Given the description of an element on the screen output the (x, y) to click on. 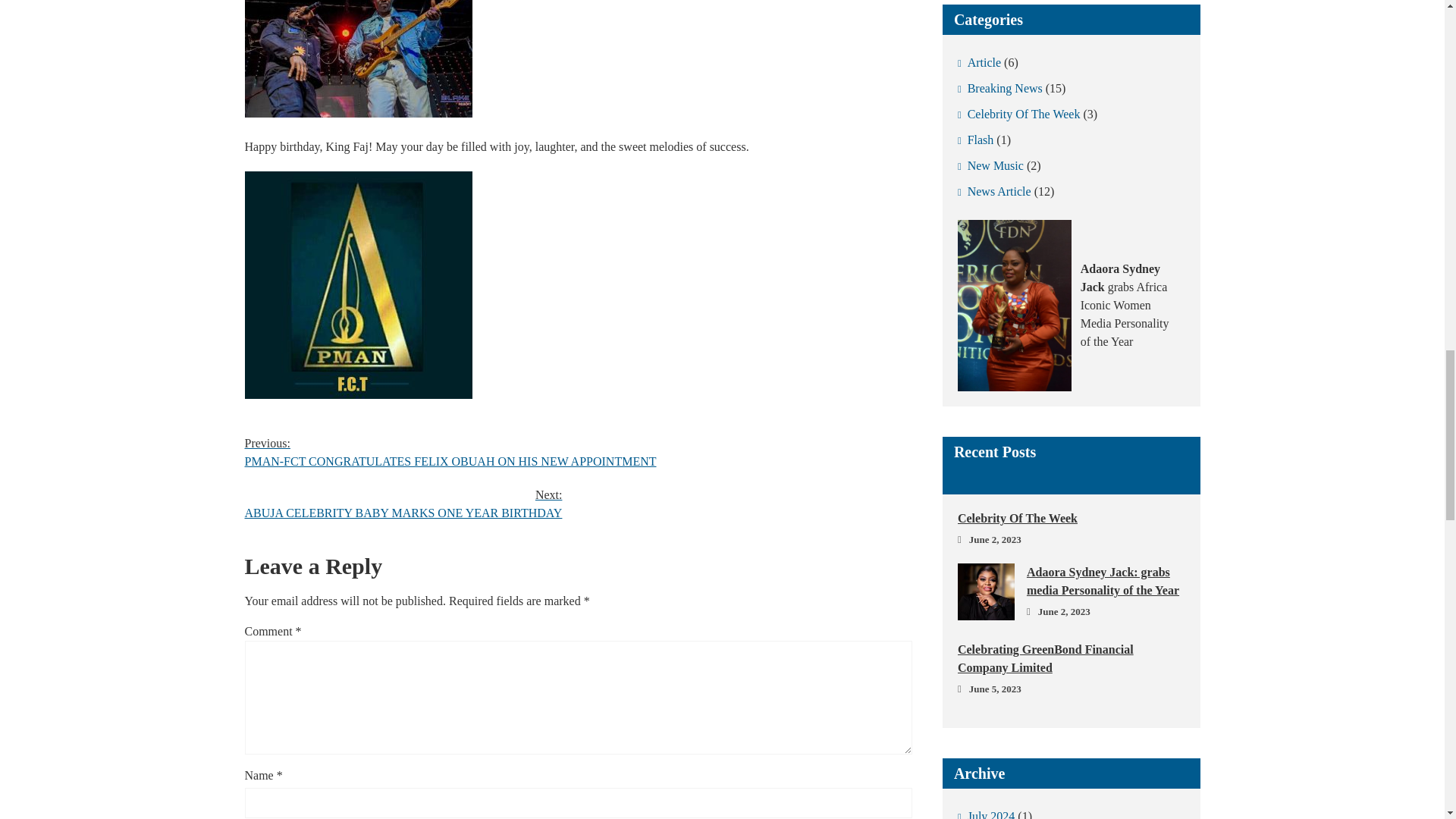
Article (979, 62)
Celebrating GreenBond Financial Company Limited (1071, 658)
New Music (990, 166)
News Article (403, 504)
Celebrity Of The Week (994, 191)
Celebrity Of The Week (1071, 518)
Flash (1019, 114)
Breaking News (975, 140)
Adaora Sydney Jack: grabs media Personality of the Year (1000, 88)
July 2024 (1071, 581)
